Given the description of an element on the screen output the (x, y) to click on. 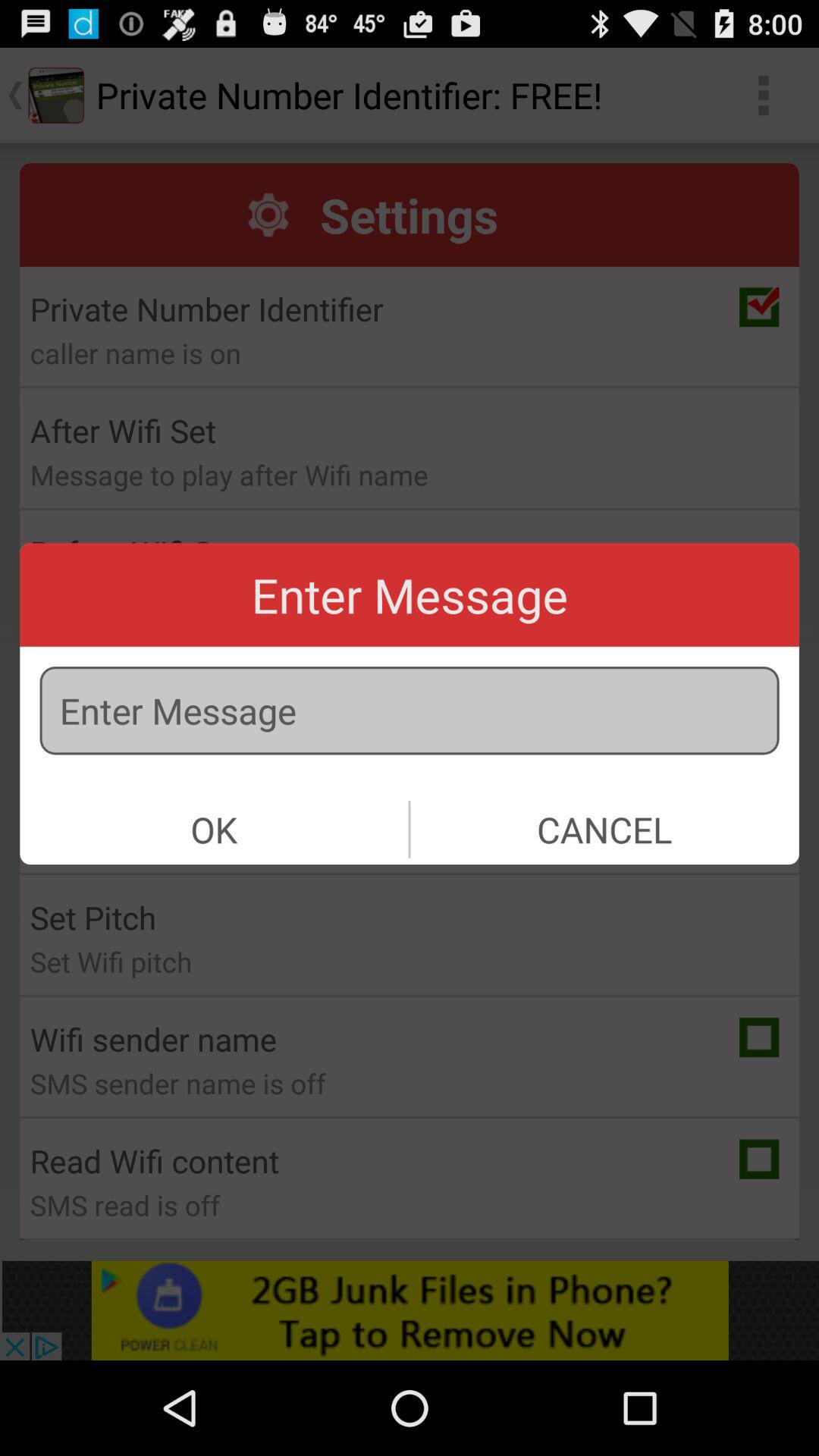
swipe to ok item (213, 829)
